Given the description of an element on the screen output the (x, y) to click on. 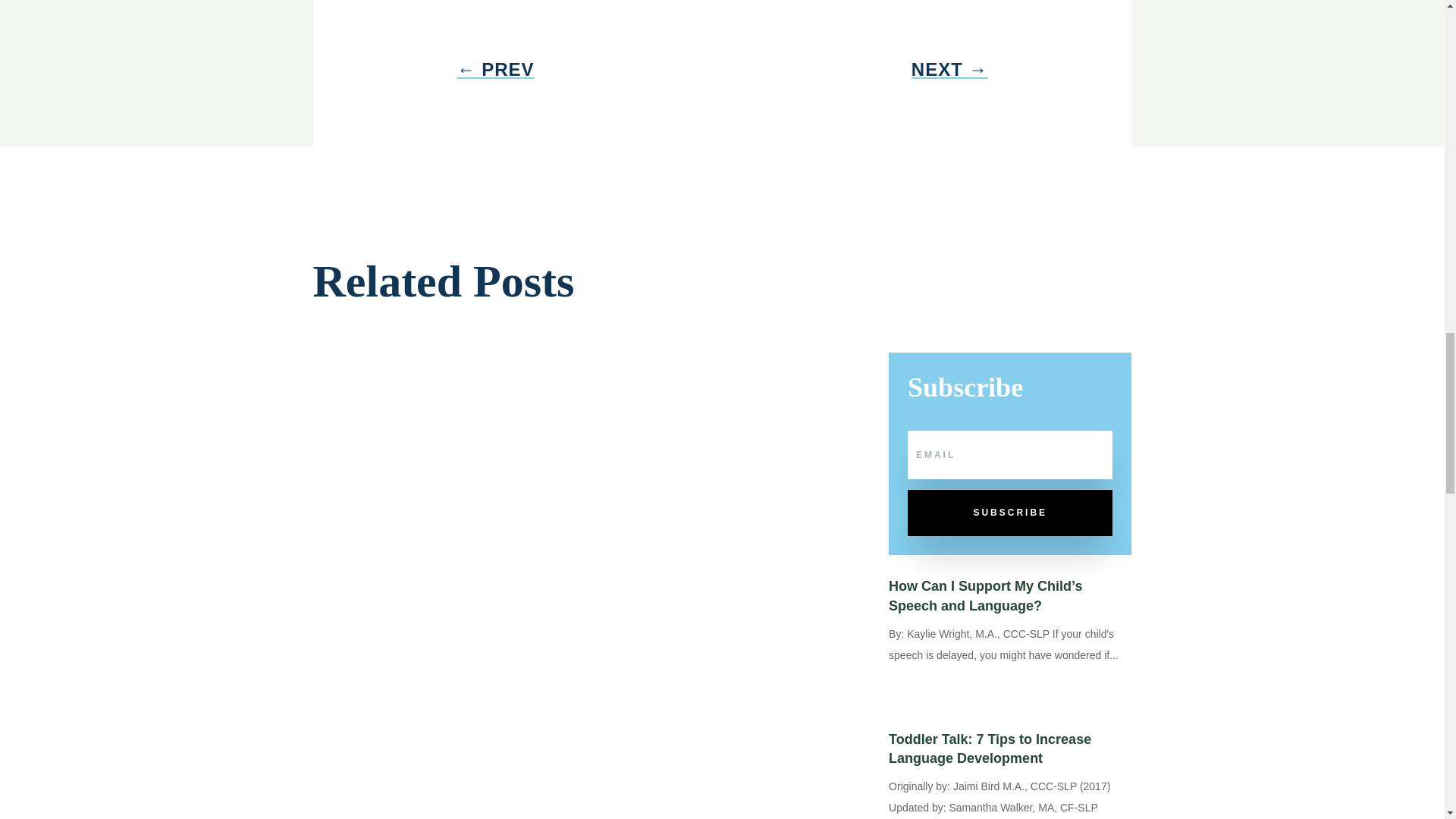
SUBSCRIBE (1009, 512)
Toddler Talk: 7 Tips to Increase Language Development (989, 748)
